Given the description of an element on the screen output the (x, y) to click on. 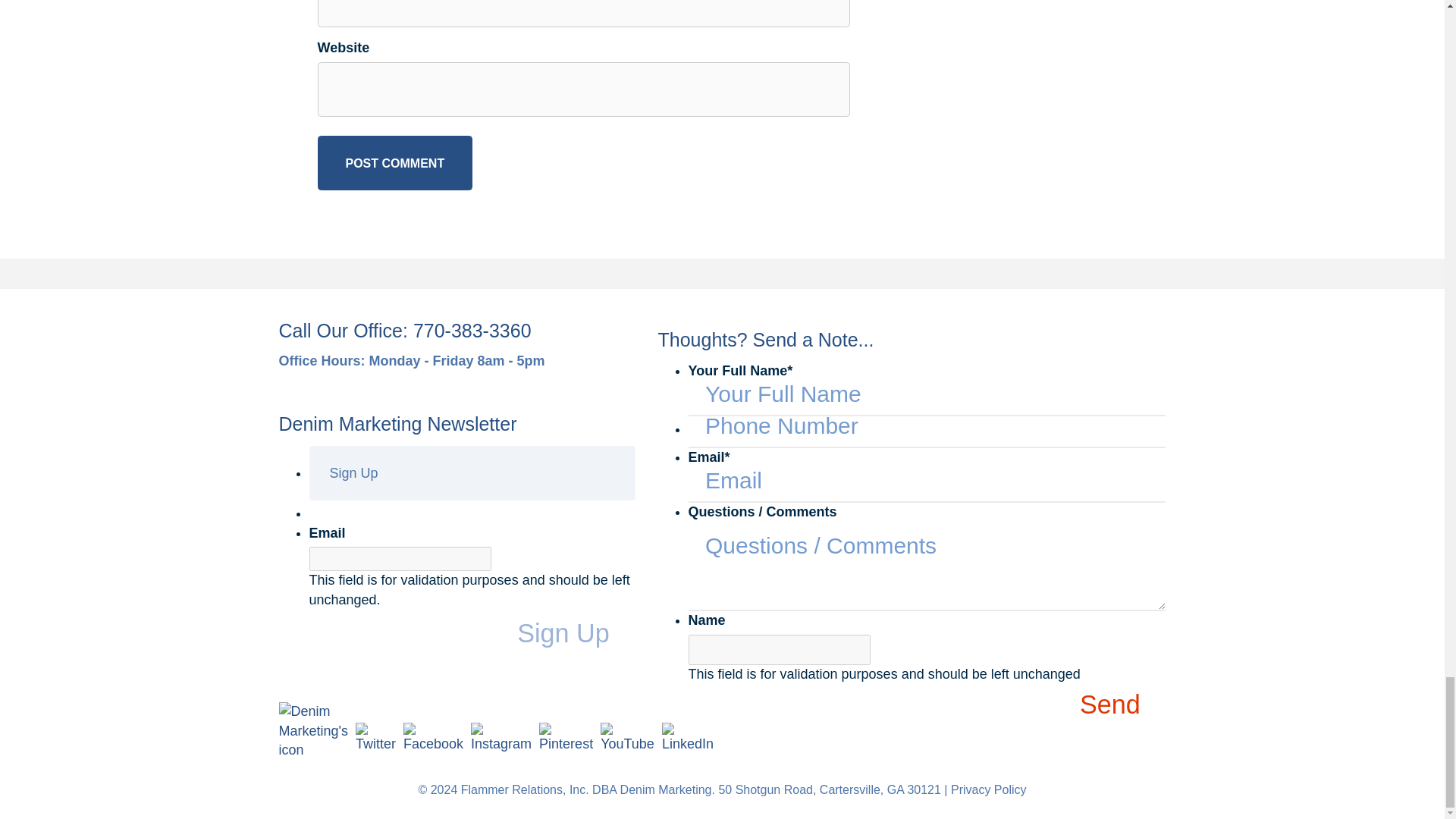
Sign Up (575, 633)
Post Comment (394, 162)
770-383-3360 (472, 330)
Post Comment (394, 162)
